Given the description of an element on the screen output the (x, y) to click on. 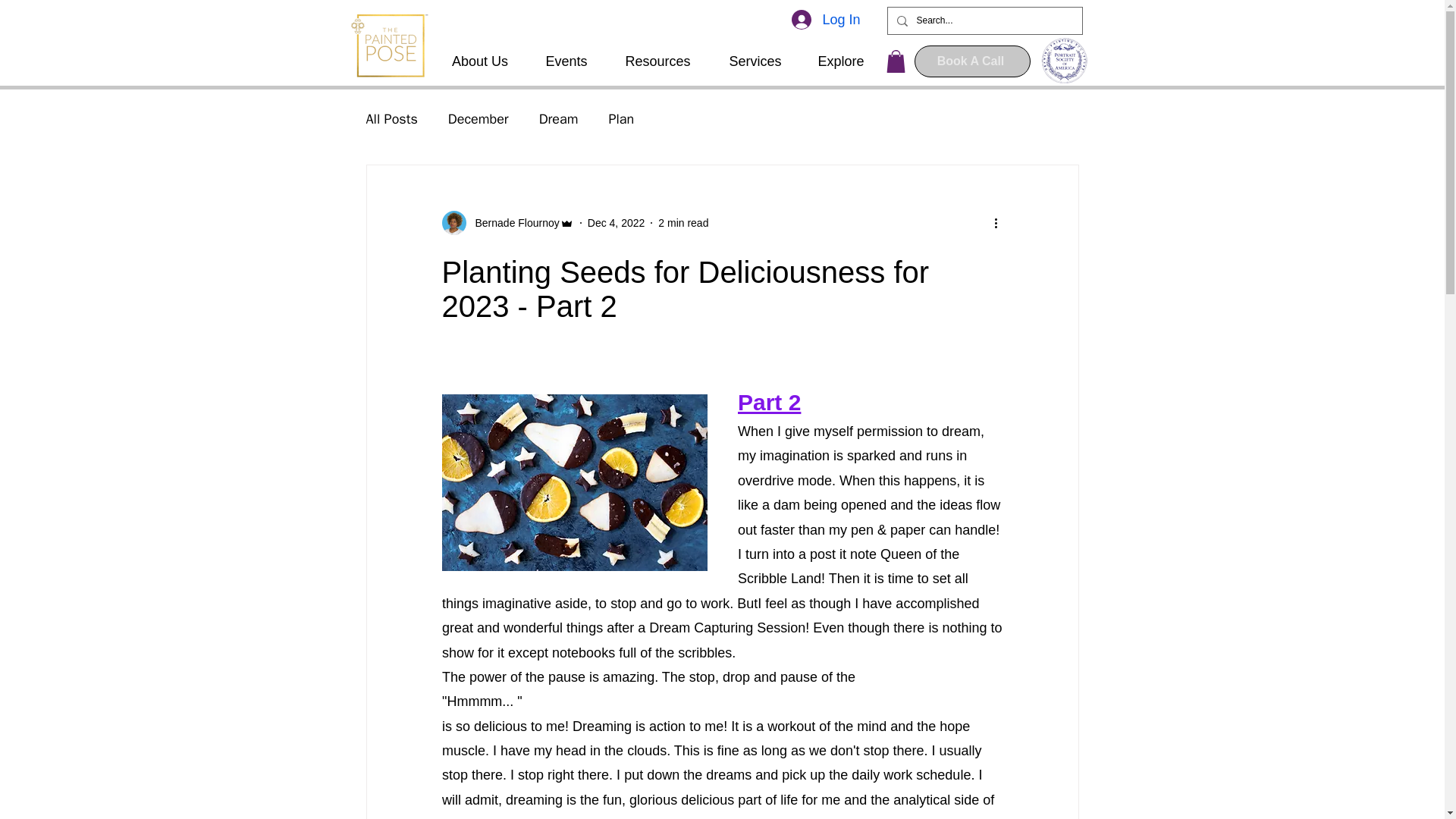
Book A Call (972, 60)
Plan (620, 118)
All Posts (390, 118)
Events (566, 61)
2 min read (682, 223)
Bernade Flournoy (512, 222)
Bernade Flournoy (507, 222)
Dream (558, 118)
December (478, 118)
Log In (825, 19)
